Given the description of an element on the screen output the (x, y) to click on. 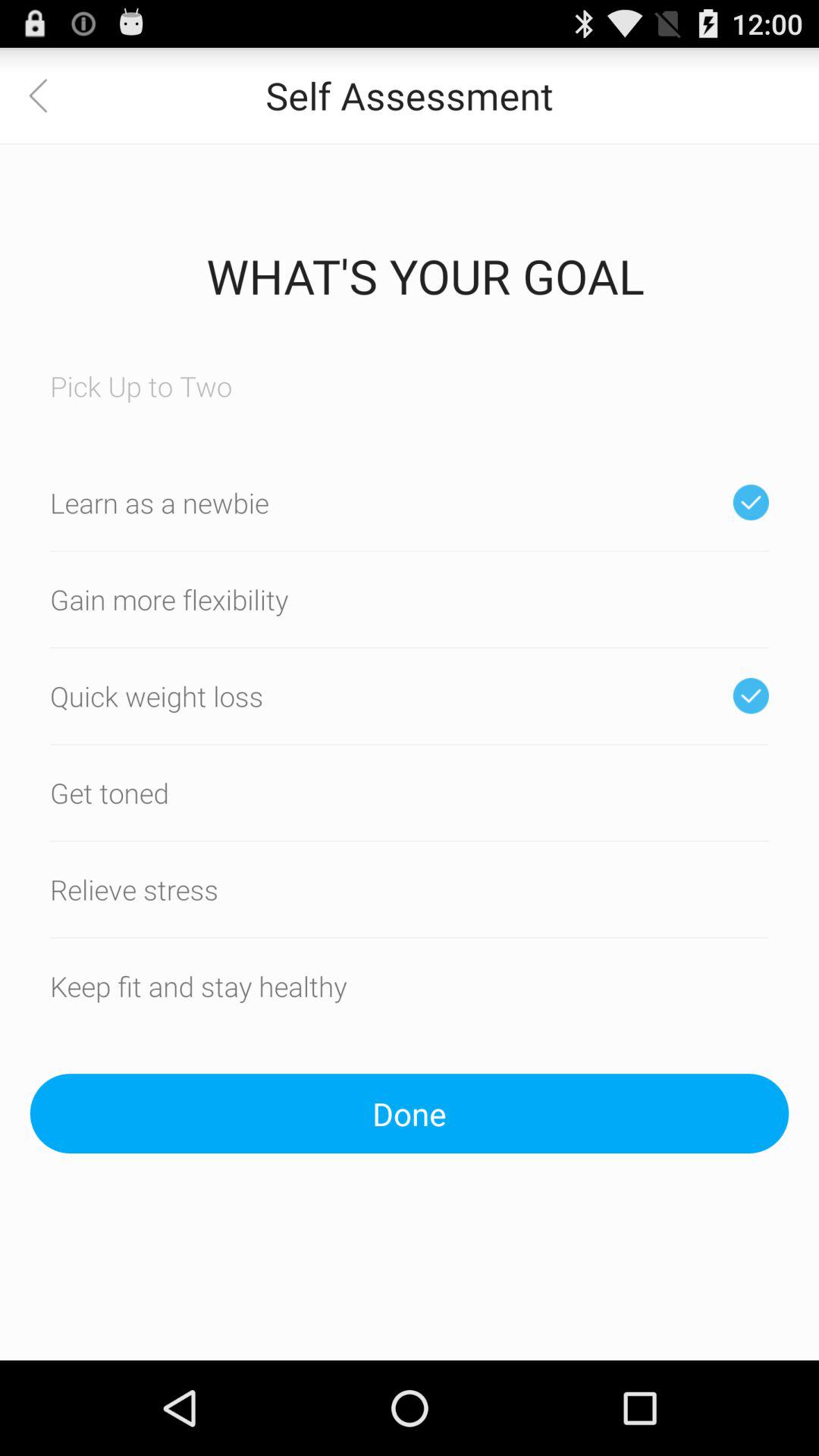
select app next to the self assessment app (47, 95)
